Given the description of an element on the screen output the (x, y) to click on. 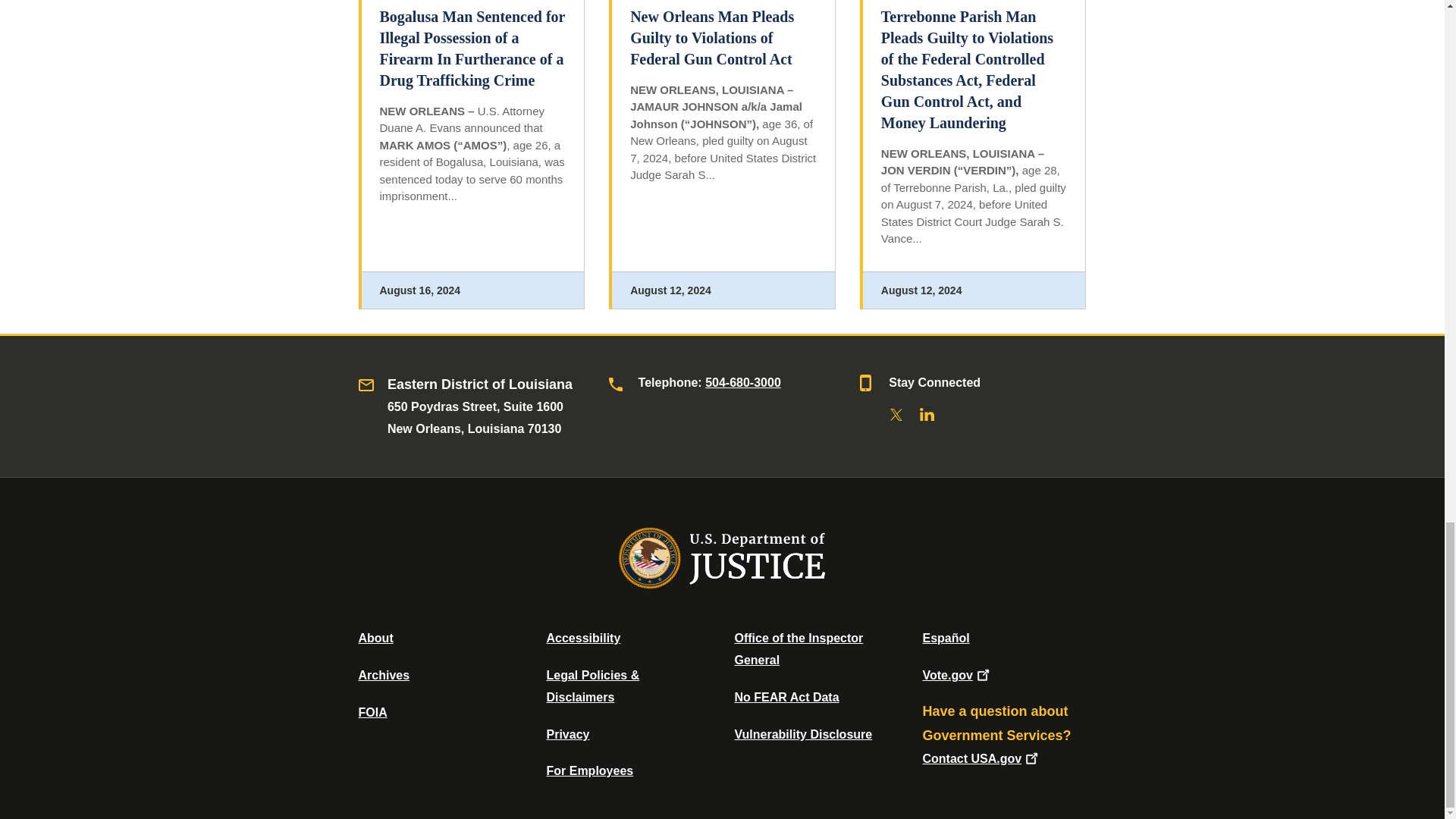
About DOJ (375, 637)
Legal Policies and Disclaimers (592, 686)
Accessibility Statement (583, 637)
Department of Justice Archive (383, 675)
Office of Information Policy (372, 712)
Data Posted Pursuant To The No Fear Act (785, 697)
For Employees (589, 770)
